Given the description of an element on the screen output the (x, y) to click on. 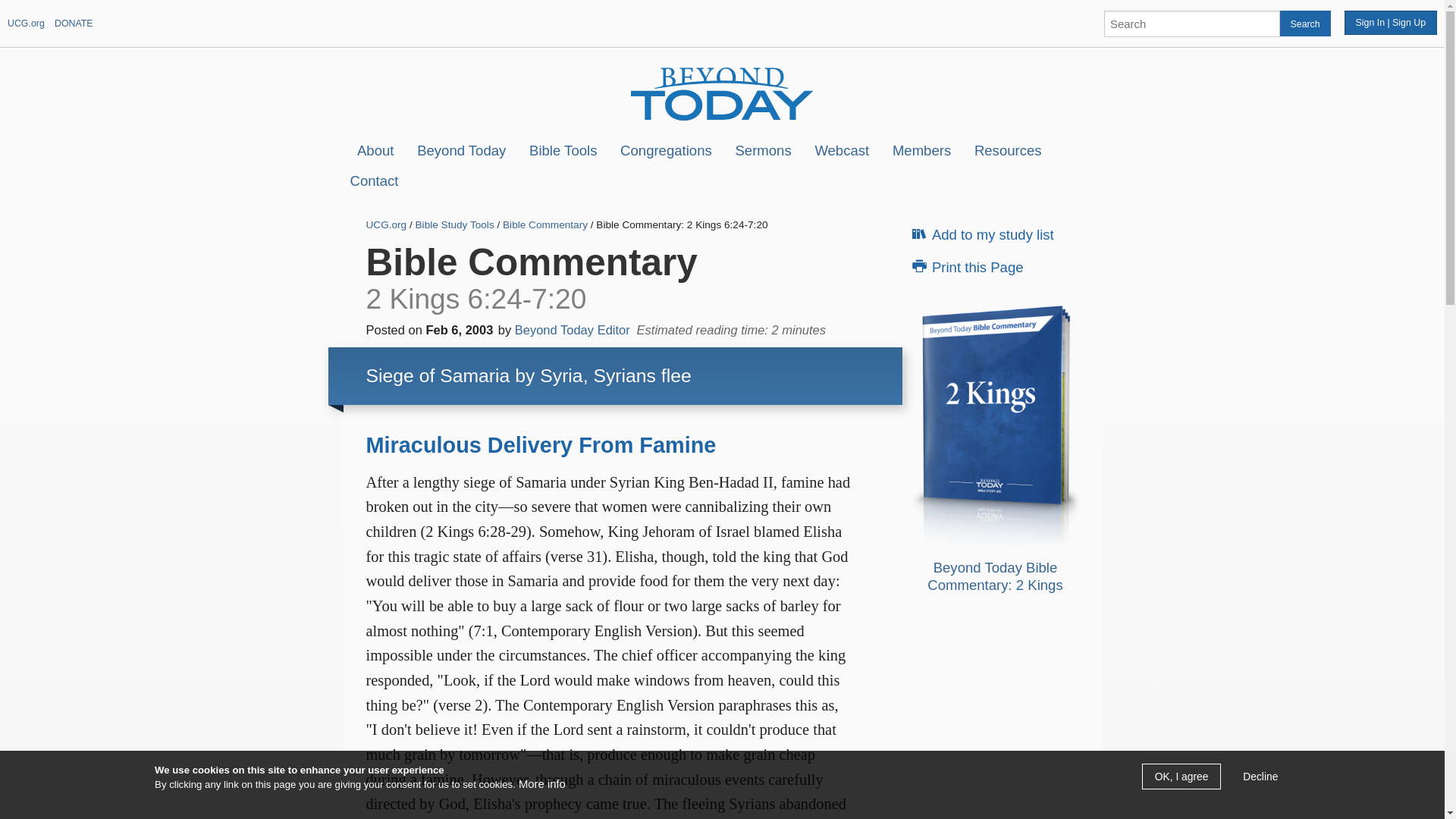
About (375, 150)
Beyond Today Bible Commentary: 2 Kings (994, 426)
View user profile. (572, 329)
Enter the terms you wish to search for. (1191, 23)
Bible Tools (563, 150)
More info (542, 784)
OK, I agree (1181, 776)
Decline (1260, 776)
Skip to main content (682, 1)
Beyond Today (461, 150)
Print this Page (998, 266)
UCG.org (26, 23)
Search (1304, 23)
DONATE (74, 23)
Search (1304, 23)
